Given the description of an element on the screen output the (x, y) to click on. 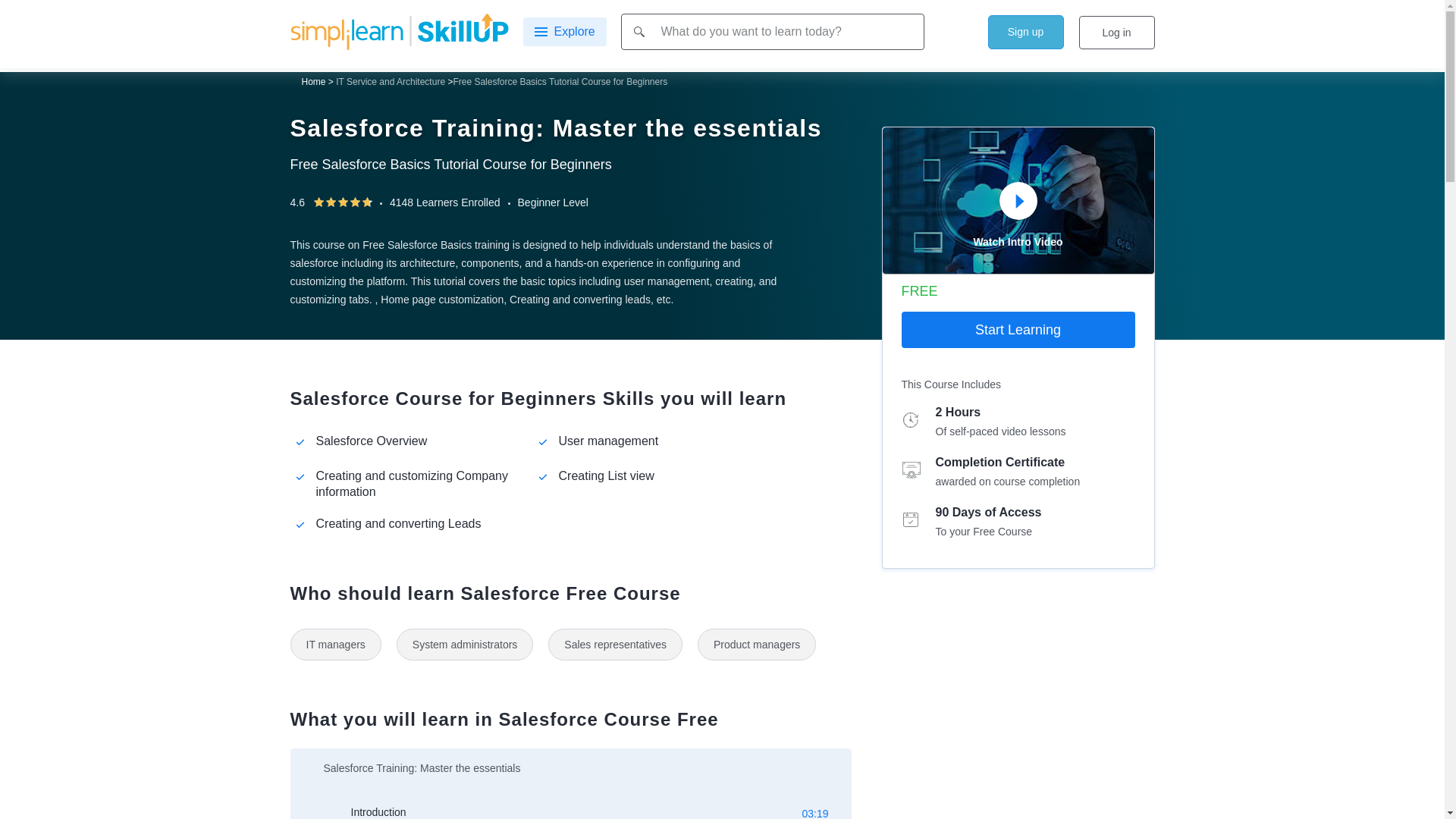
Sign-up (1024, 32)
search (639, 29)
Simplilearn - Skillup (398, 30)
Log in (1116, 32)
Start Learning (1017, 330)
Log in (1116, 32)
Sign up (1024, 32)
IT Service and Architecture (390, 81)
Home (313, 81)
Explore (564, 31)
Free Salesforce Basics Tutorial Course for Beginners (559, 81)
